Given the description of an element on the screen output the (x, y) to click on. 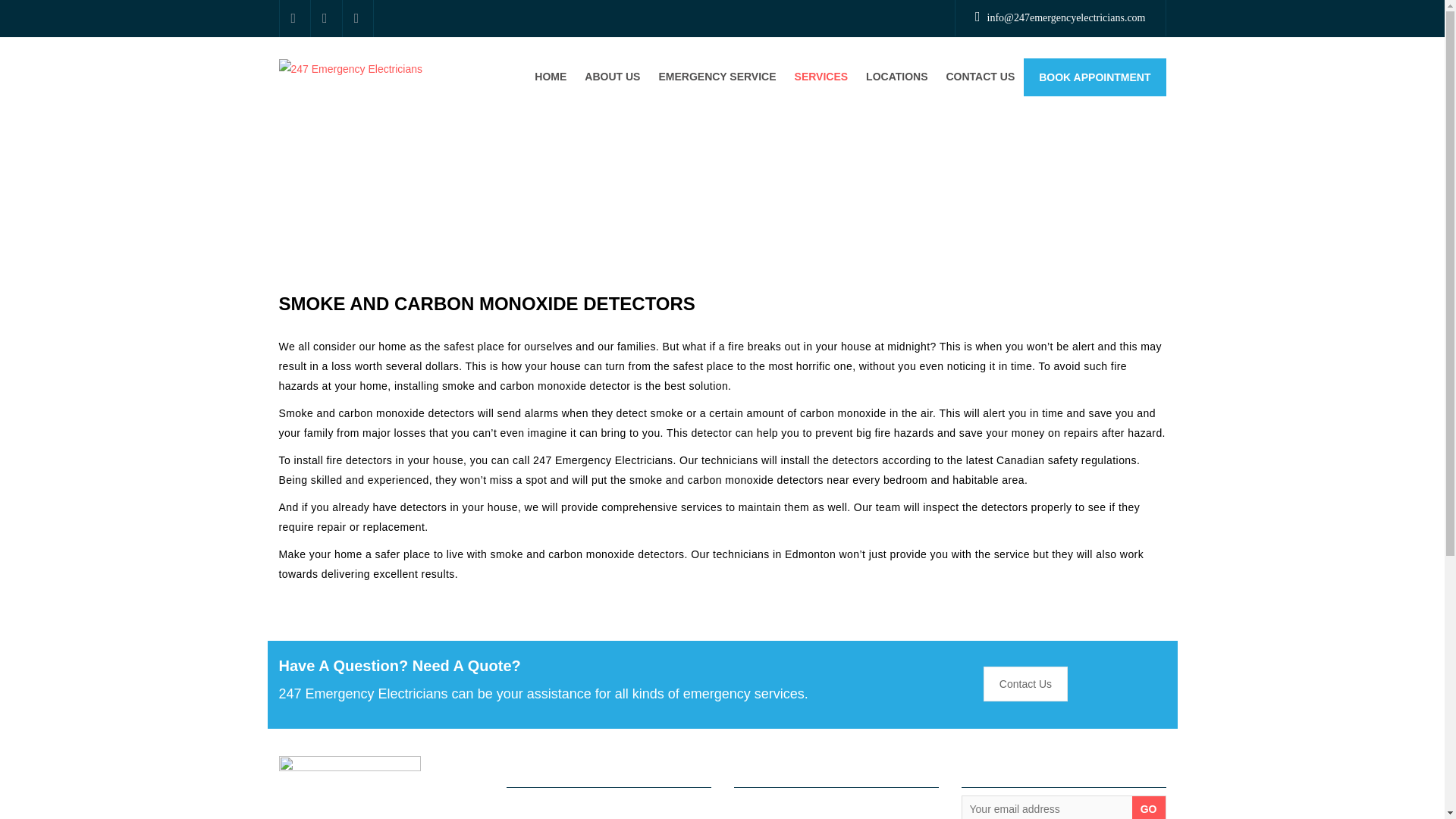
LOCATIONS (896, 76)
Go (1149, 807)
EMERGENCY SERVICE (716, 76)
Contact Us (1025, 683)
ABOUT US (612, 76)
LOCATIONS (896, 76)
SERVICES (821, 76)
SERVICES (821, 76)
Official Website (351, 68)
ABOUT US (612, 76)
